Given the description of an element on the screen output the (x, y) to click on. 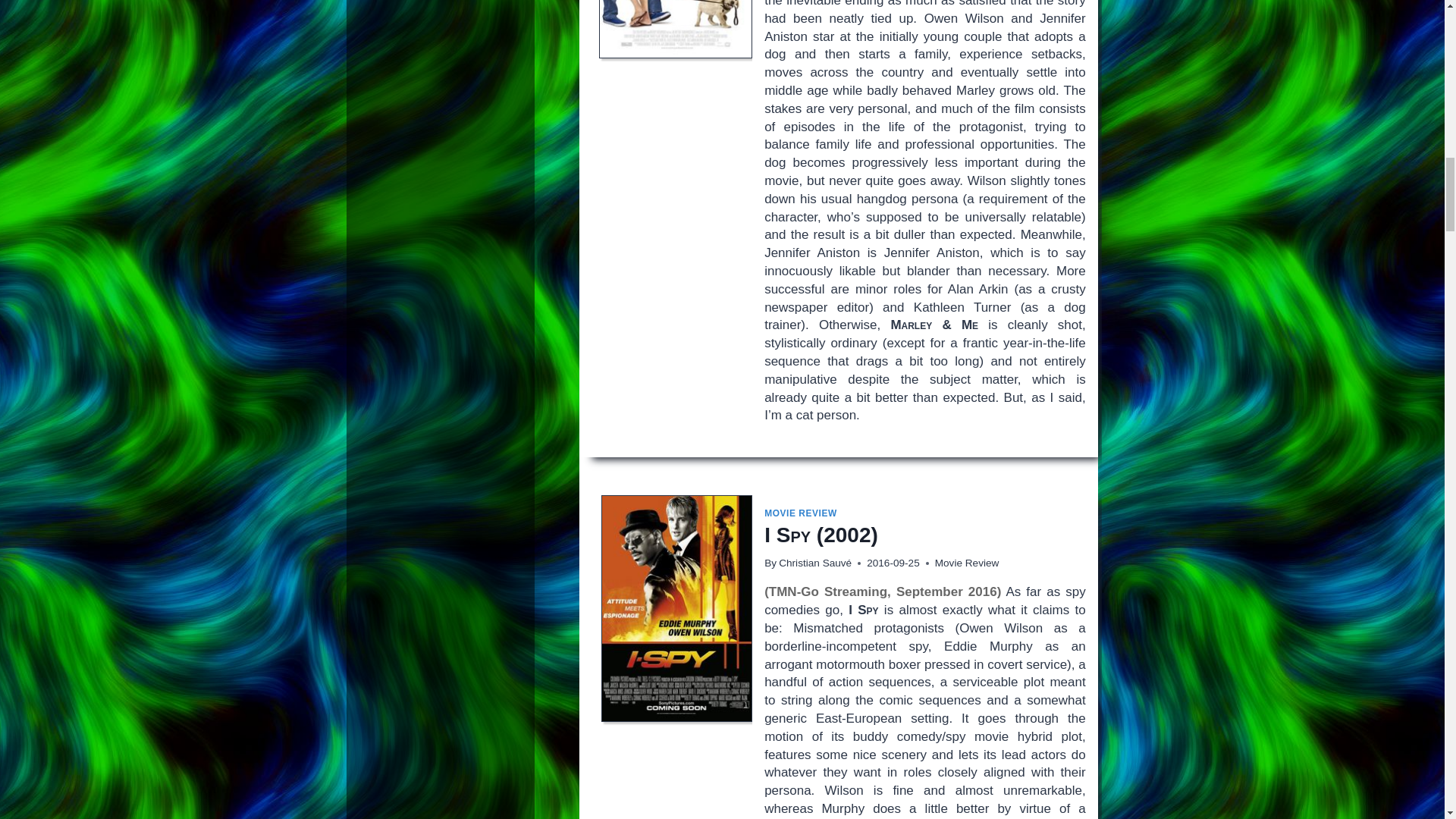
MOVIE REVIEW (800, 512)
Movie Review (966, 562)
